Given the description of an element on the screen output the (x, y) to click on. 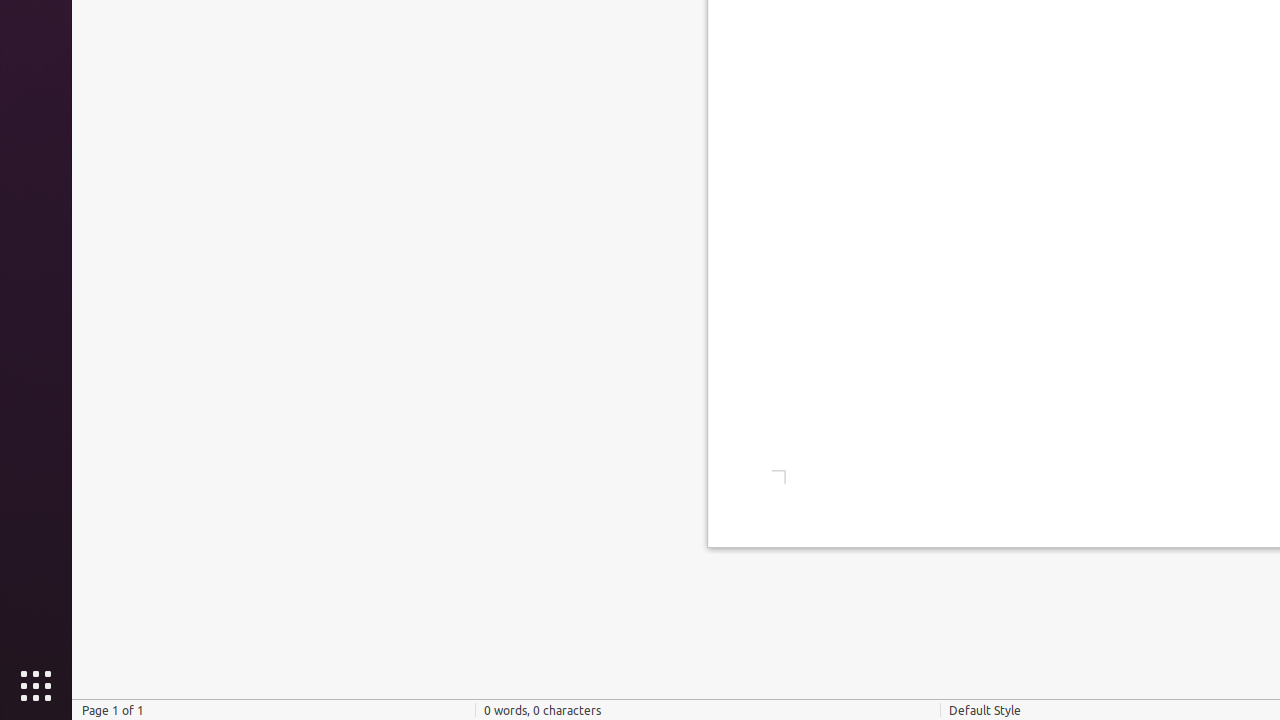
Show Applications Element type: toggle-button (36, 686)
